Given the description of an element on the screen output the (x, y) to click on. 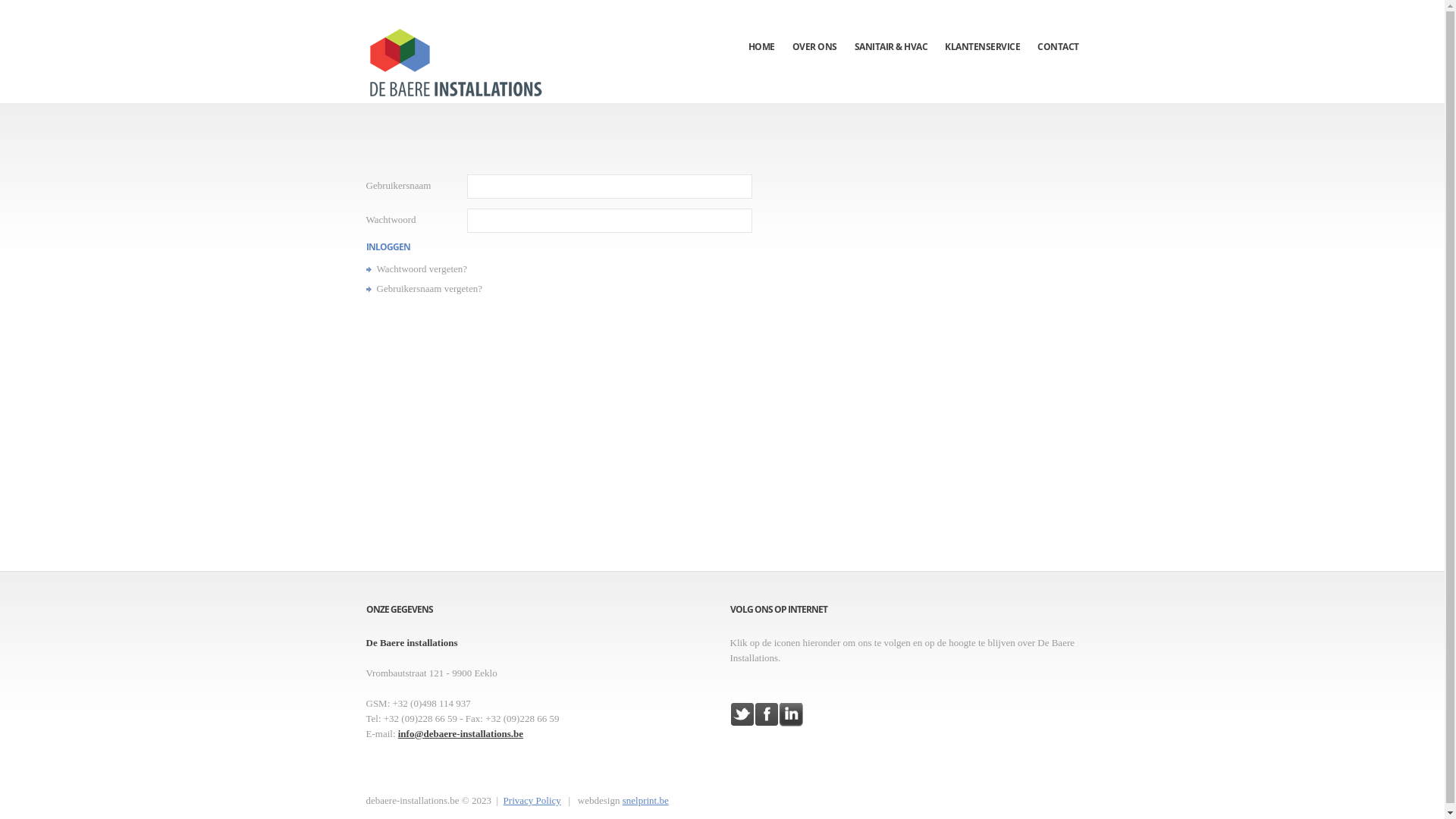
info@debaere-installations.be Element type: text (460, 733)
Privacy Policy Element type: text (532, 800)
INLOGGEN Element type: text (387, 246)
snelprint.be Element type: text (645, 800)
CONTACT Element type: text (1058, 26)
SANITAIR & HVAC Element type: text (890, 26)
OVER ONS Element type: text (813, 26)
Gebruikersnaam vergeten? Element type: text (428, 288)
KLANTENSERVICE Element type: text (981, 26)
HOME Element type: text (760, 26)
Wachtwoord vergeten? Element type: text (421, 268)
